Given the description of an element on the screen output the (x, y) to click on. 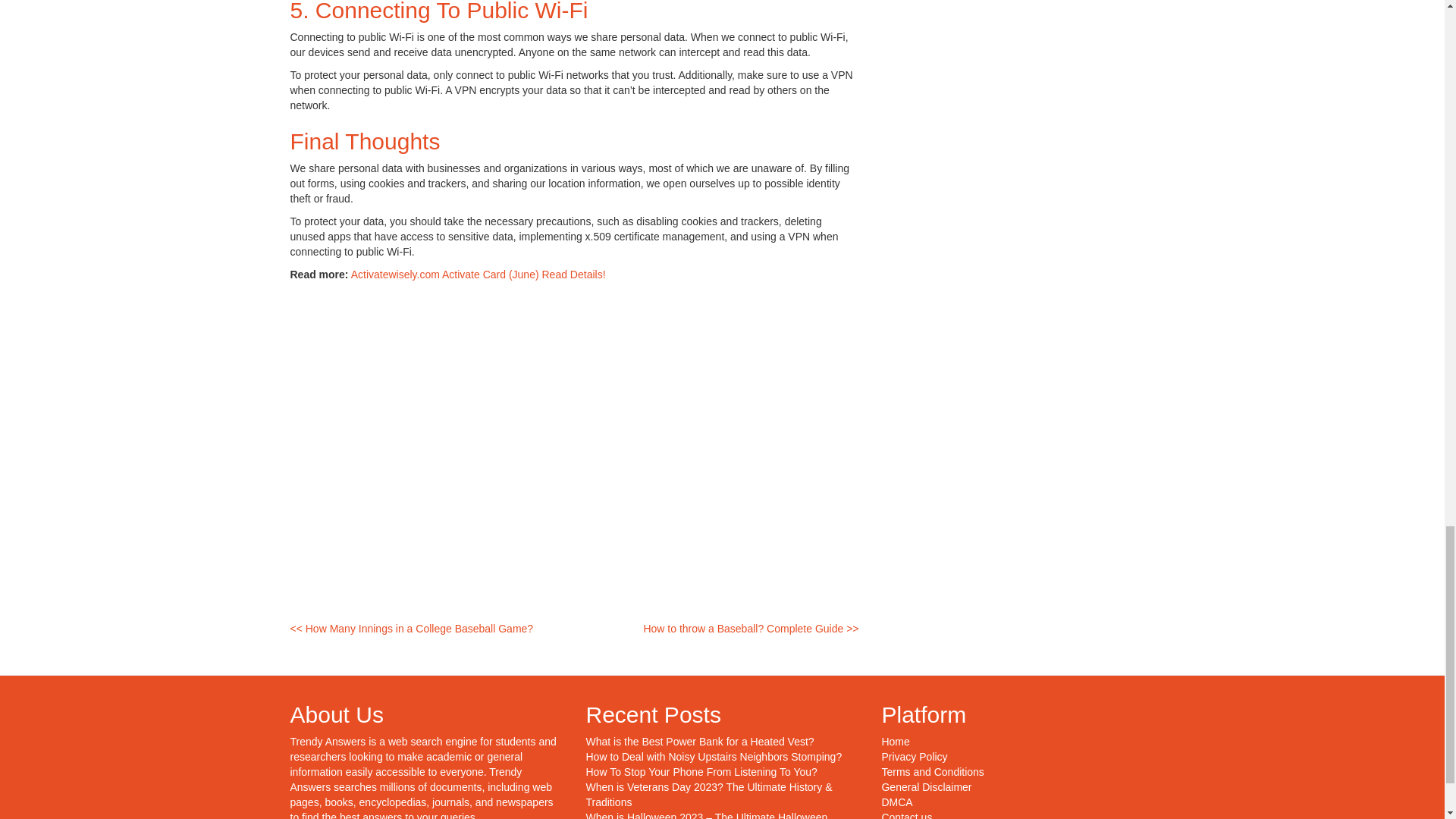
Privacy Policy (913, 756)
Home (894, 741)
How To Stop Your Phone From Listening To You? (700, 771)
Trendy Answers (327, 741)
What is the Best Power Bank for a Heated Vest? (699, 741)
How to Deal with Noisy Upstairs Neighbors Stomping? (713, 756)
